Given the description of an element on the screen output the (x, y) to click on. 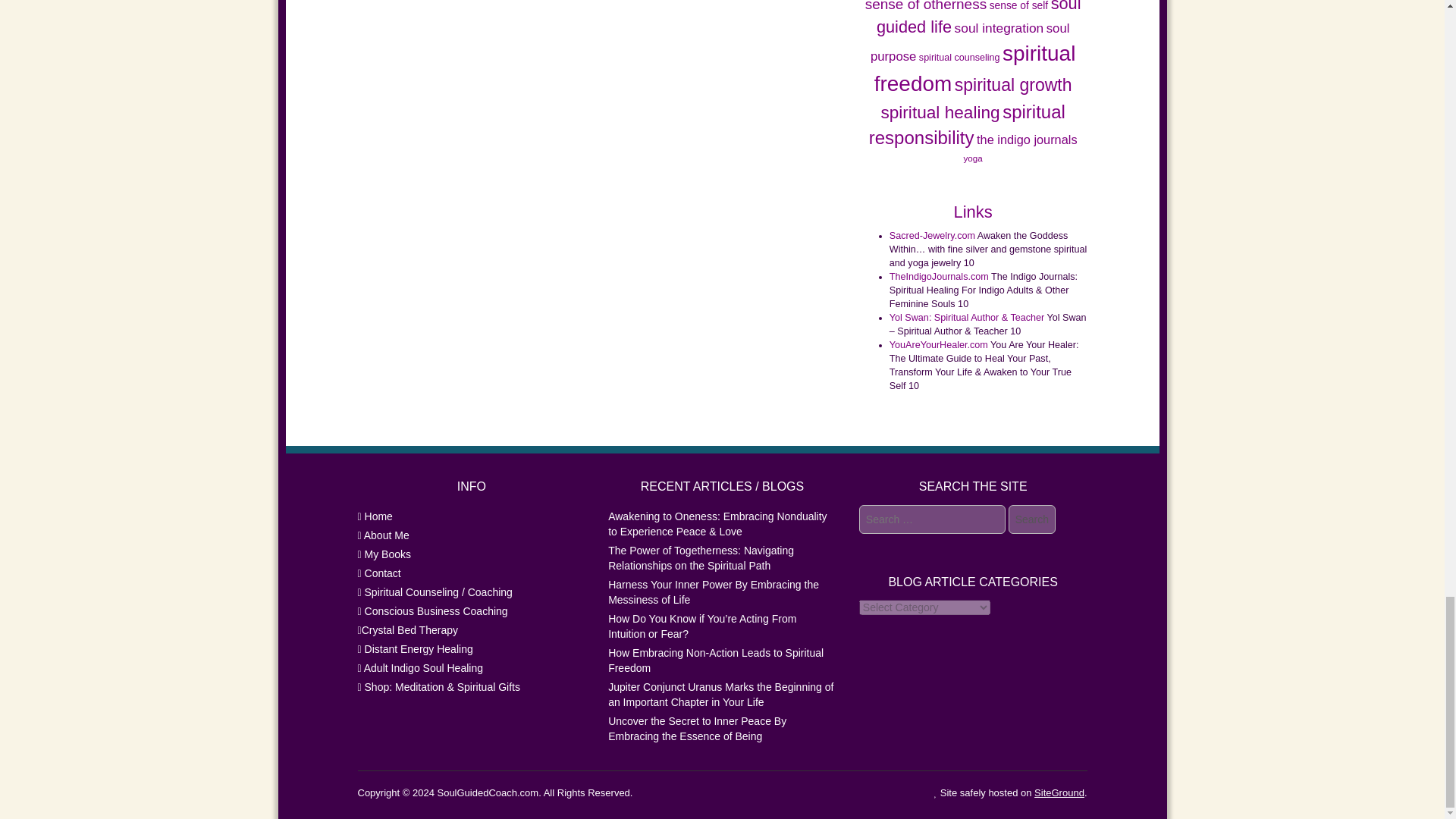
Search (1032, 519)
Search (1032, 519)
